Given the description of an element on the screen output the (x, y) to click on. 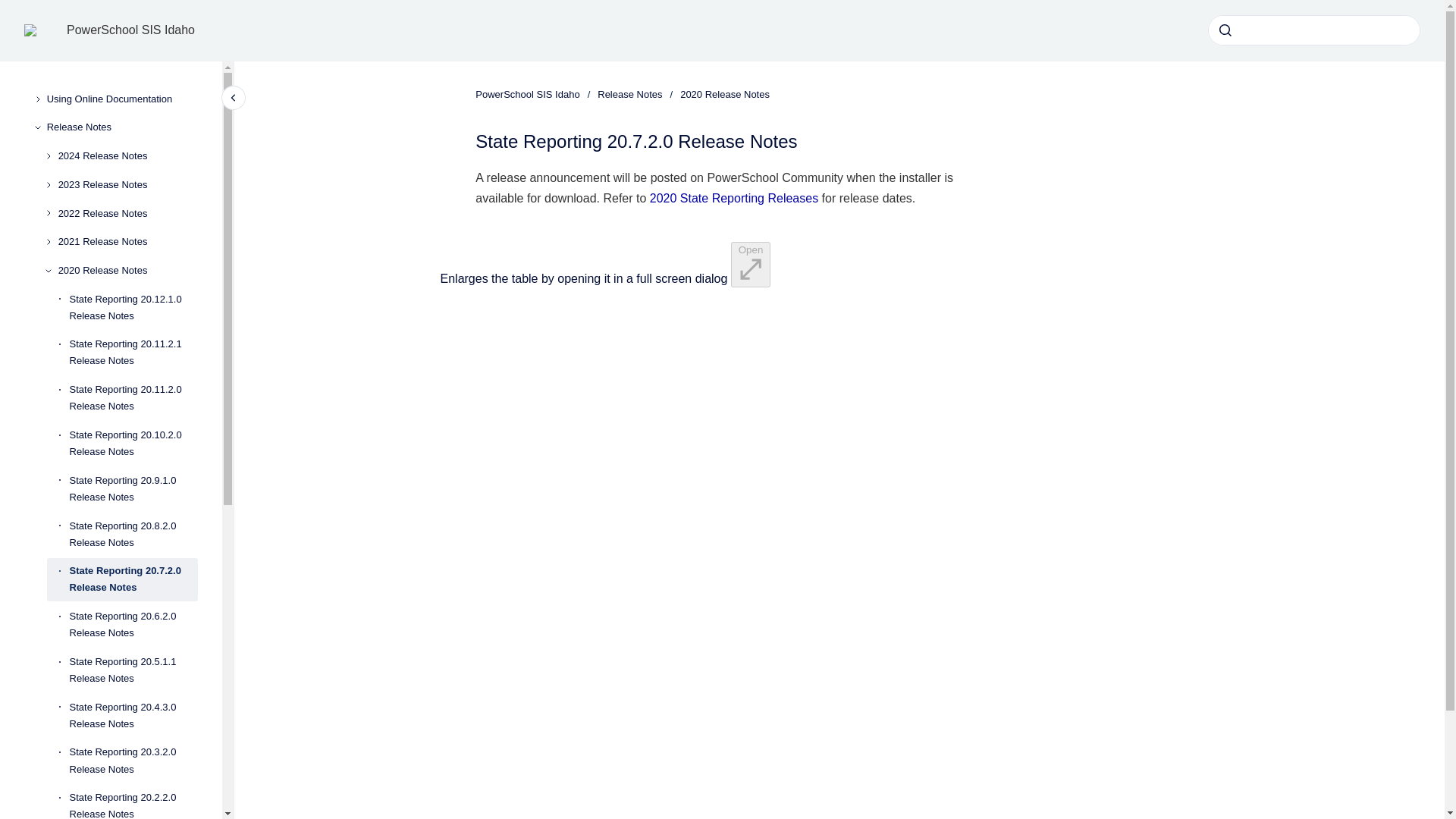
State Reporting 20.6.2.0 Release Notes (133, 624)
2024 Release Notes (128, 155)
2020 Release Notes (128, 270)
2023 Release Notes (128, 185)
2021 Release Notes (128, 241)
State Reporting 20.3.2.0 Release Notes (133, 760)
State Reporting 20.5.1.1 Release Notes (133, 670)
State Reporting 20.11.2.0 Release Notes (133, 397)
State Reporting 20.12.1.0 Release Notes (133, 307)
State Reporting 20.8.2.0 Release Notes (133, 534)
State Reporting 20.10.2.0 Release Notes (133, 443)
Using Online Documentation (122, 99)
State Reporting 20.4.3.0 Release Notes (133, 715)
State Reporting 20.2.2.0 Release Notes (133, 801)
Release Notes (122, 127)
